Given the description of an element on the screen output the (x, y) to click on. 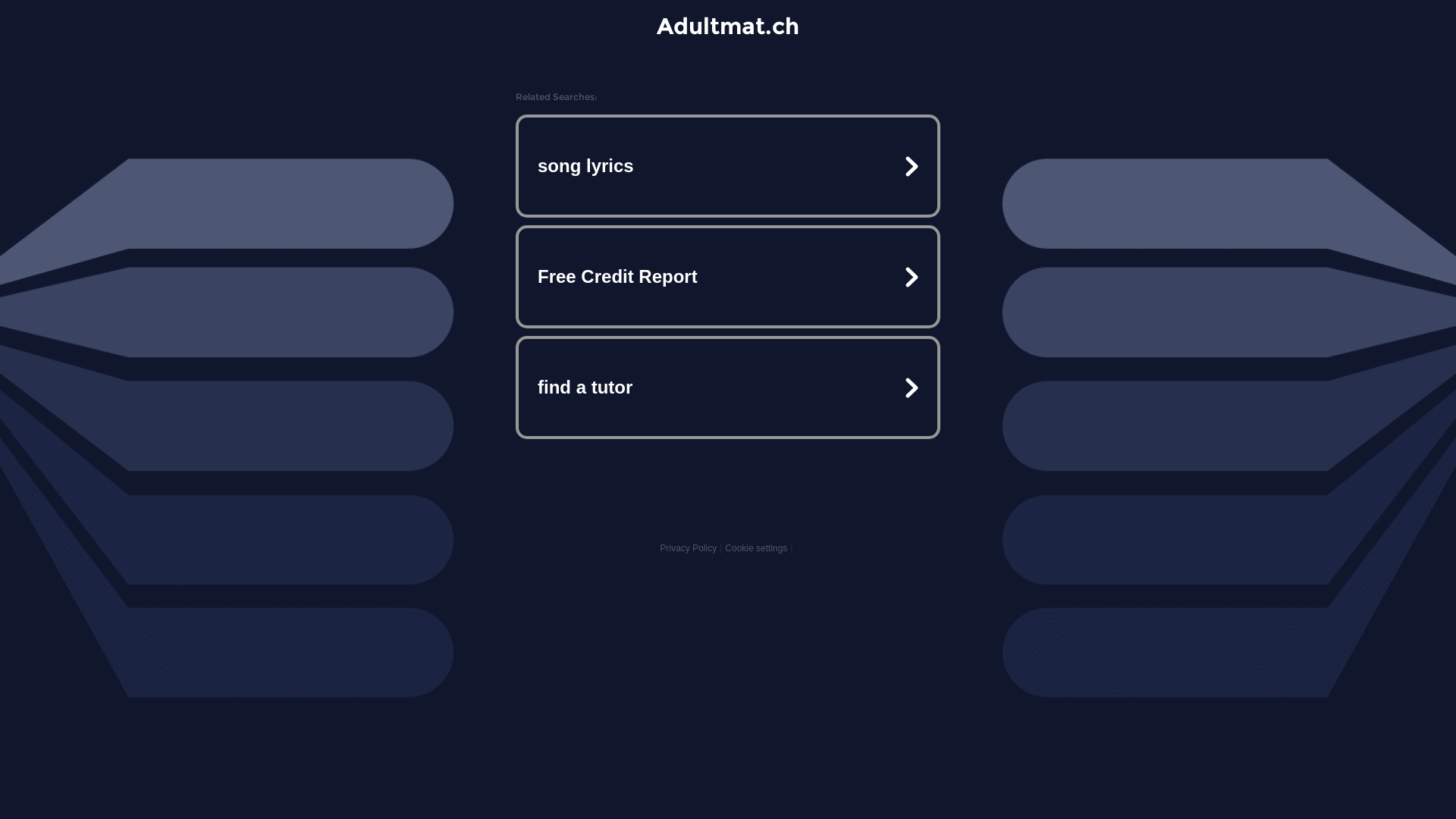
song lyrics Element type: text (727, 165)
Cookie settings Element type: text (755, 547)
find a tutor Element type: text (727, 387)
Free Credit Report Element type: text (727, 276)
Privacy Policy Element type: text (687, 547)
Adultmat.ch Element type: text (727, 26)
